Given the description of an element on the screen output the (x, y) to click on. 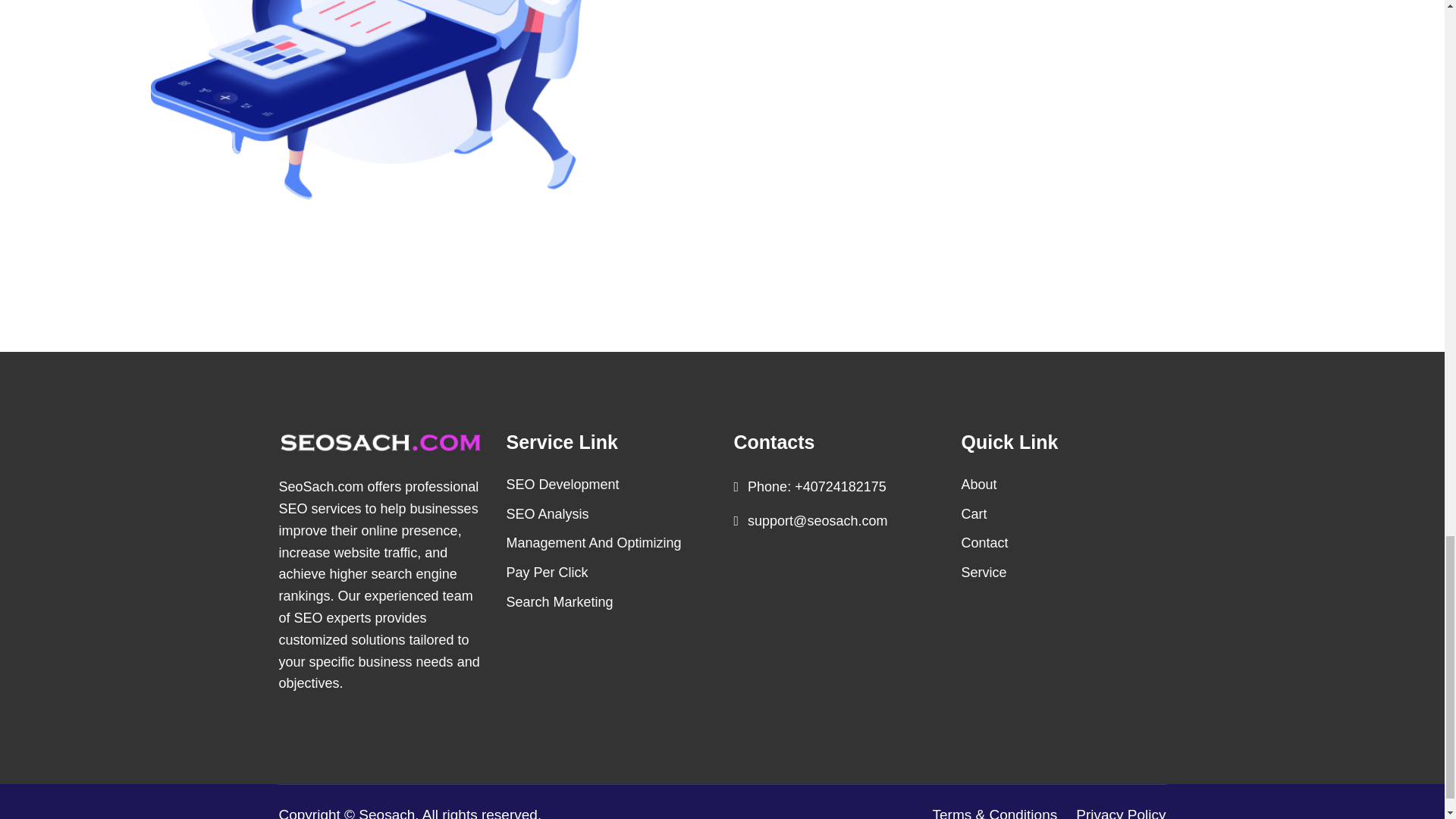
Search Marketing (559, 601)
Privacy Policy (1117, 811)
Contact (984, 542)
Management And Optimizing (593, 542)
Pay Per Click (547, 572)
SEO Analysis (547, 513)
About (978, 484)
Cart (973, 513)
Service (983, 572)
SEO Development (563, 484)
